Given the description of an element on the screen output the (x, y) to click on. 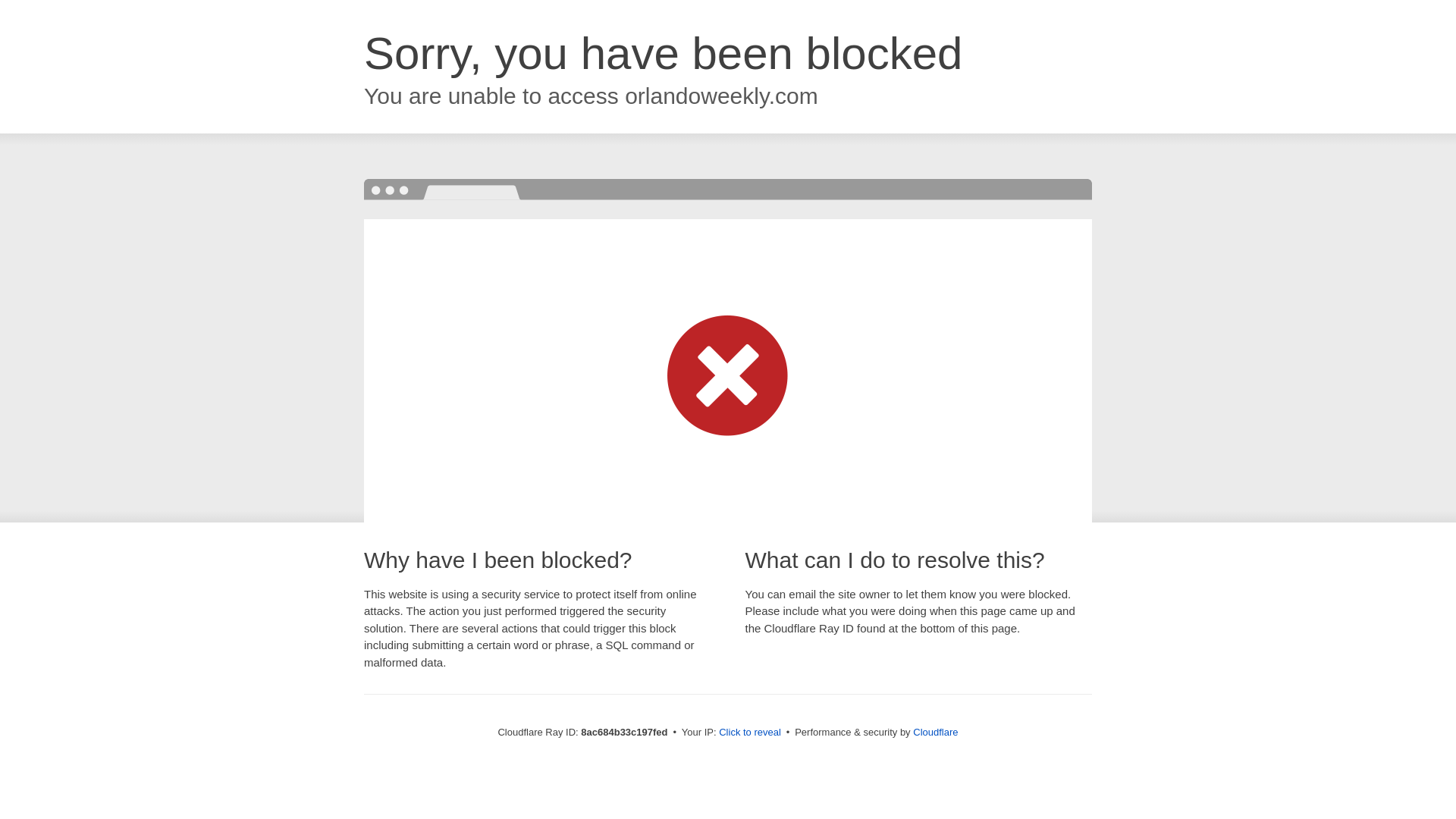
Cloudflare (935, 731)
Click to reveal (749, 732)
